Given the description of an element on the screen output the (x, y) to click on. 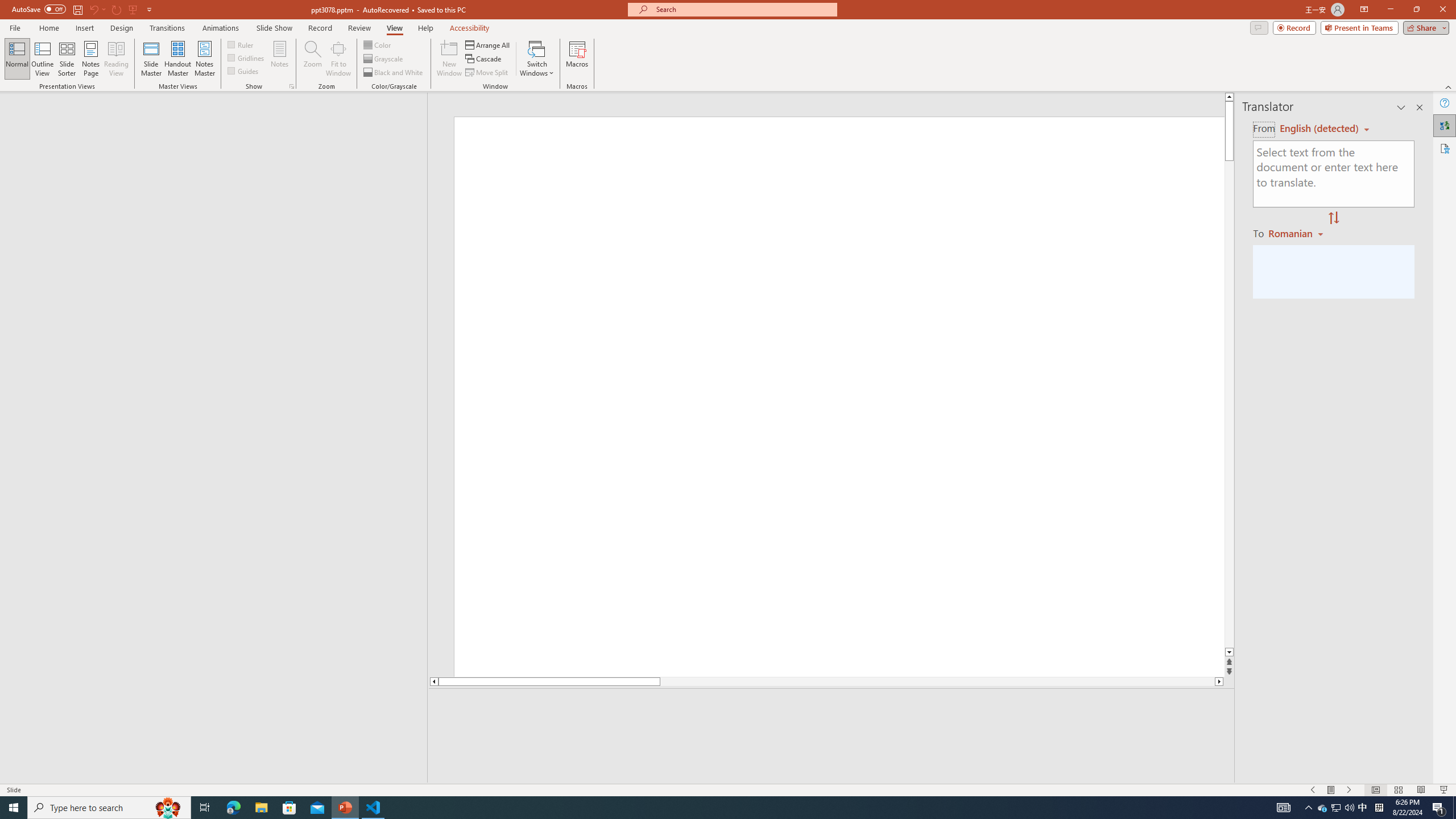
Cascade (484, 58)
Color (377, 44)
